Given the description of an element on the screen output the (x, y) to click on. 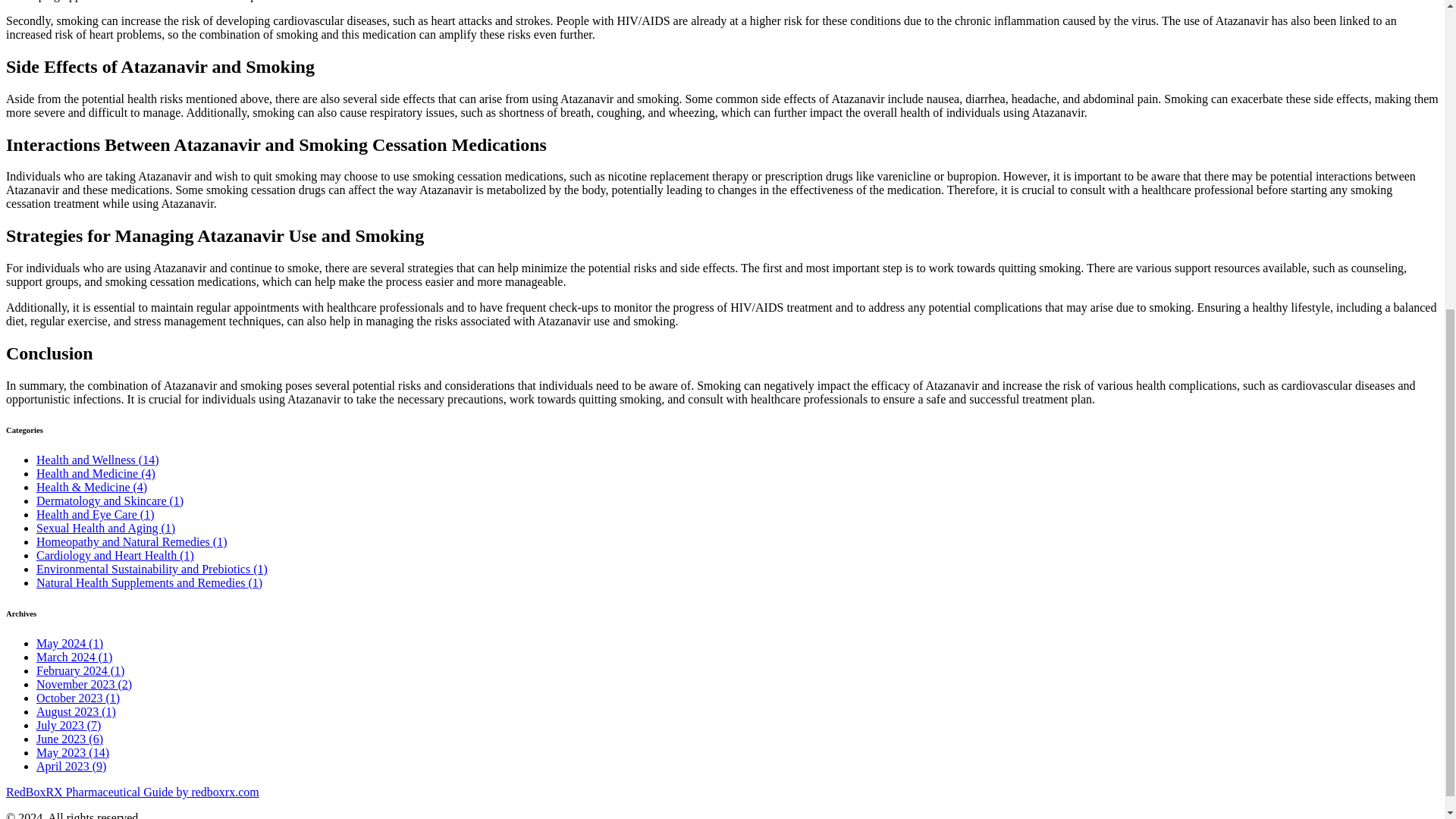
RedBoxRX Pharmaceutical Guide by redboxrx.com (132, 791)
